Given the description of an element on the screen output the (x, y) to click on. 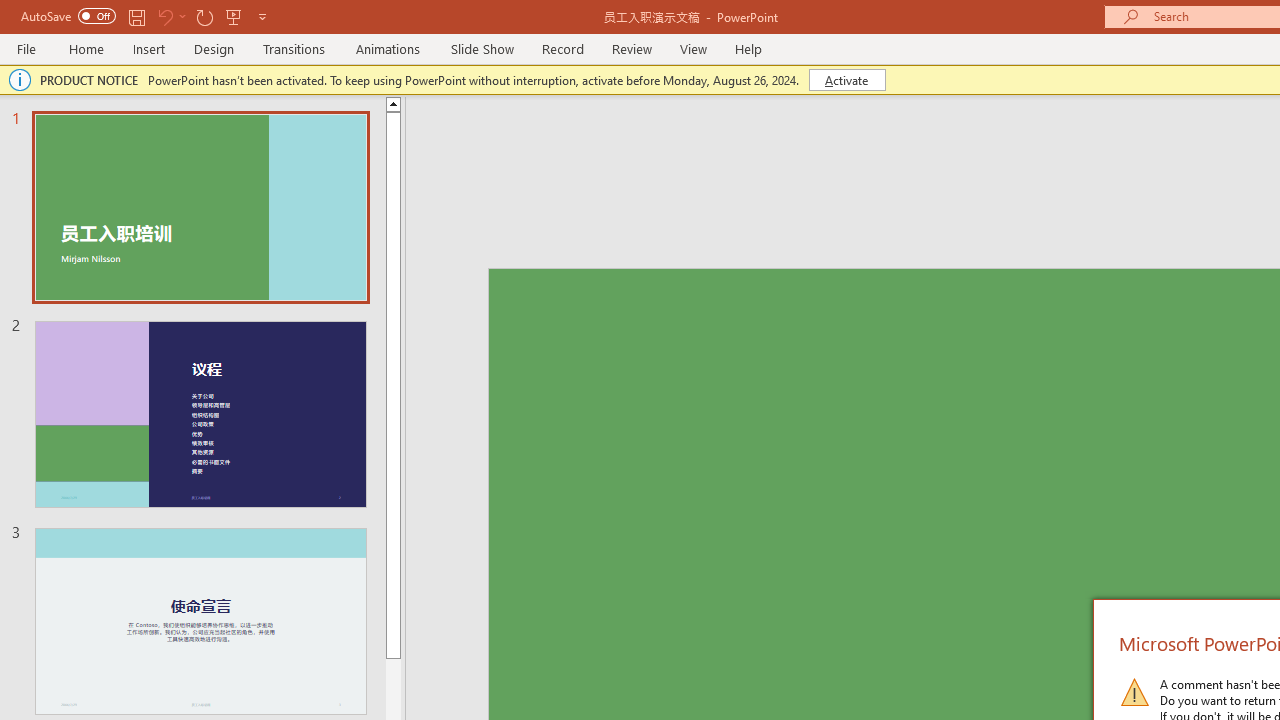
Warning Icon (1134, 691)
